Given the description of an element on the screen output the (x, y) to click on. 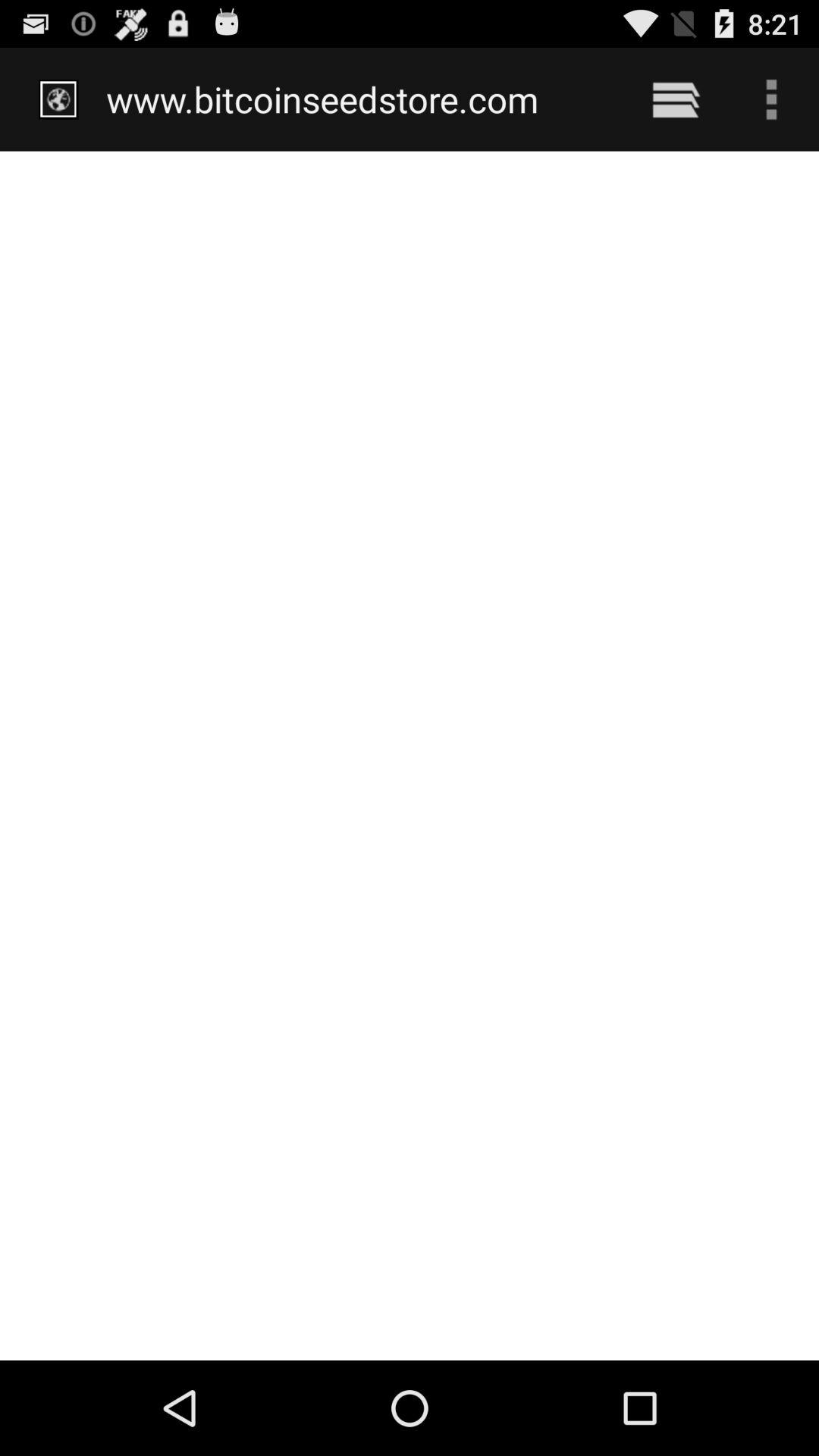
launch the icon at the top (357, 99)
